Given the description of an element on the screen output the (x, y) to click on. 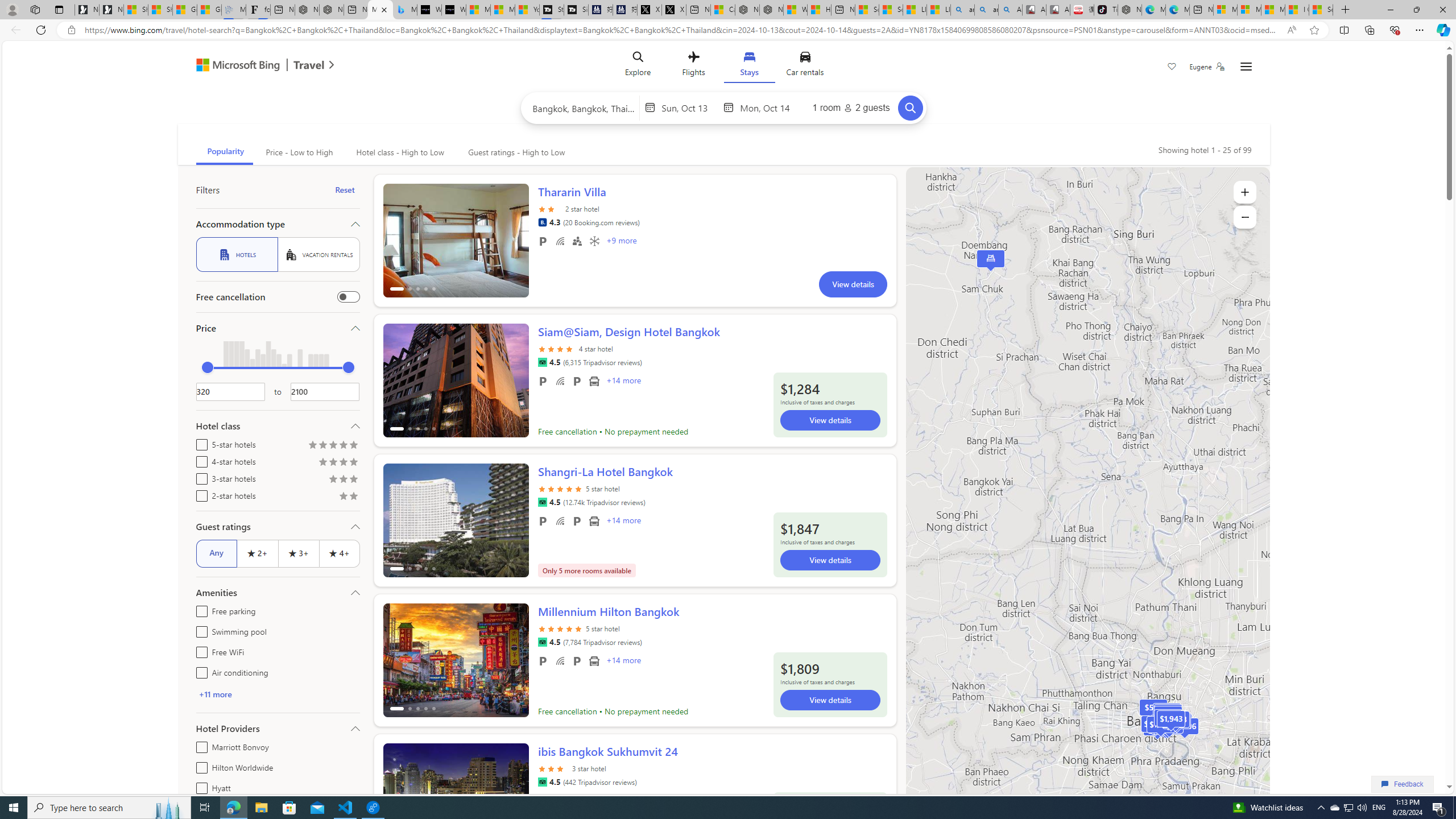
Class: trvl-hub-header (723, 65)
Air conditioning (199, 670)
Price - Low to High (298, 152)
4+ (338, 553)
3+ (298, 553)
HOTELS (236, 254)
AutomationID: TextField877 (325, 391)
VACATION RENTALS (318, 254)
Flights (693, 65)
